Given the description of an element on the screen output the (x, y) to click on. 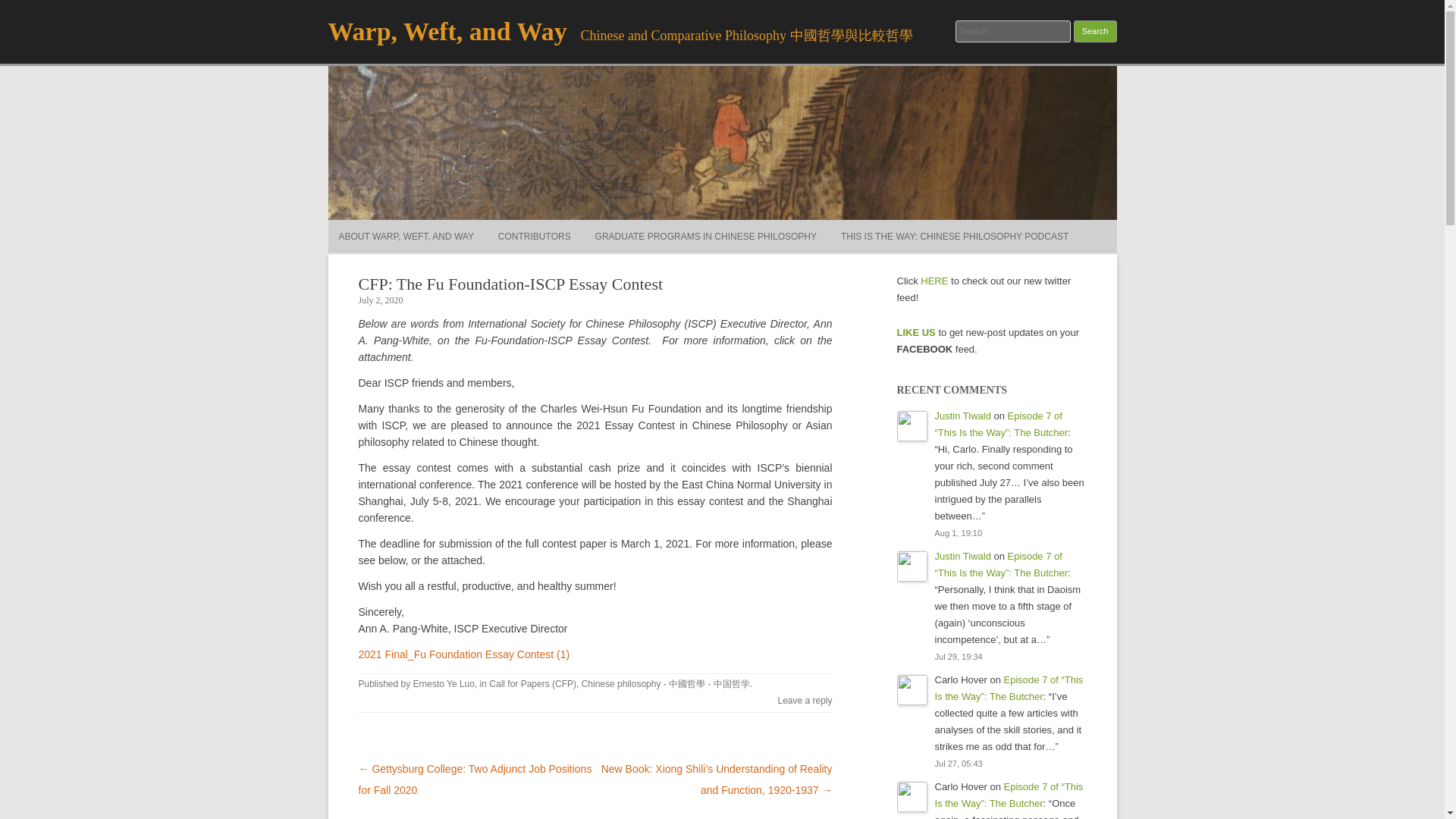
Ernesto Ye Luo (443, 683)
Skip to content (757, 225)
5:39 pm (380, 299)
Search (1095, 31)
Search (1095, 31)
GRADUATE PROGRAMS IN CHINESE PHILOSOPHY (705, 236)
View all posts by Ernesto Ye Luo (443, 683)
Search (1095, 31)
Justin Tiwald (962, 555)
July 2, 2020 (380, 299)
HERE (933, 280)
Warp, Weft, and Way (446, 31)
Warp, Weft, and Way (446, 31)
CONTRIBUTORS (533, 236)
THIS IS THE WAY: CHINESE PHILOSOPHY PODCAST (954, 236)
